Given the description of an element on the screen output the (x, y) to click on. 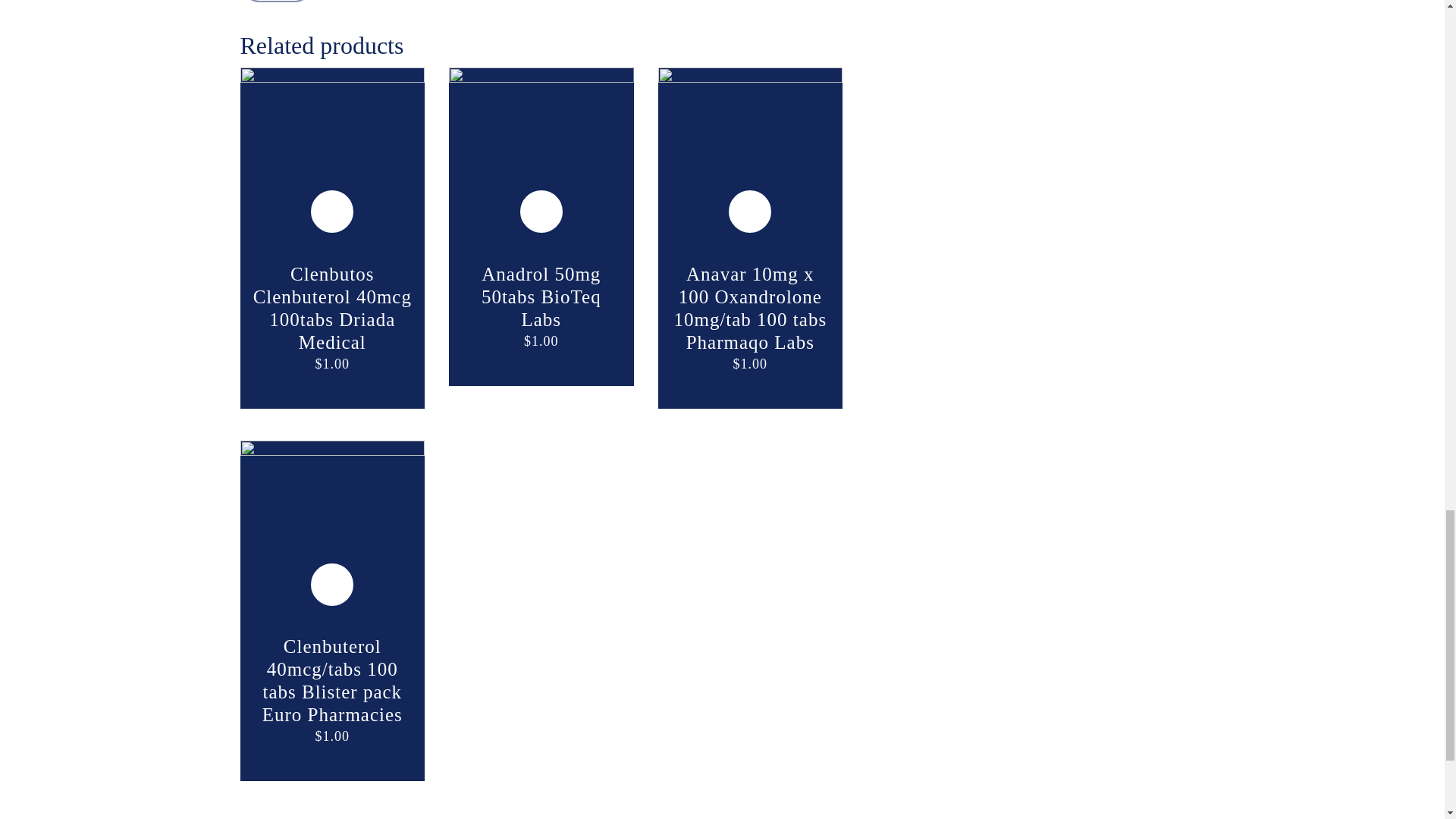
Submit (277, 1)
Add to cart (331, 211)
Add to cart (749, 211)
Add to cart (541, 211)
Add to cart (331, 584)
Submit (277, 1)
